Given the description of an element on the screen output the (x, y) to click on. 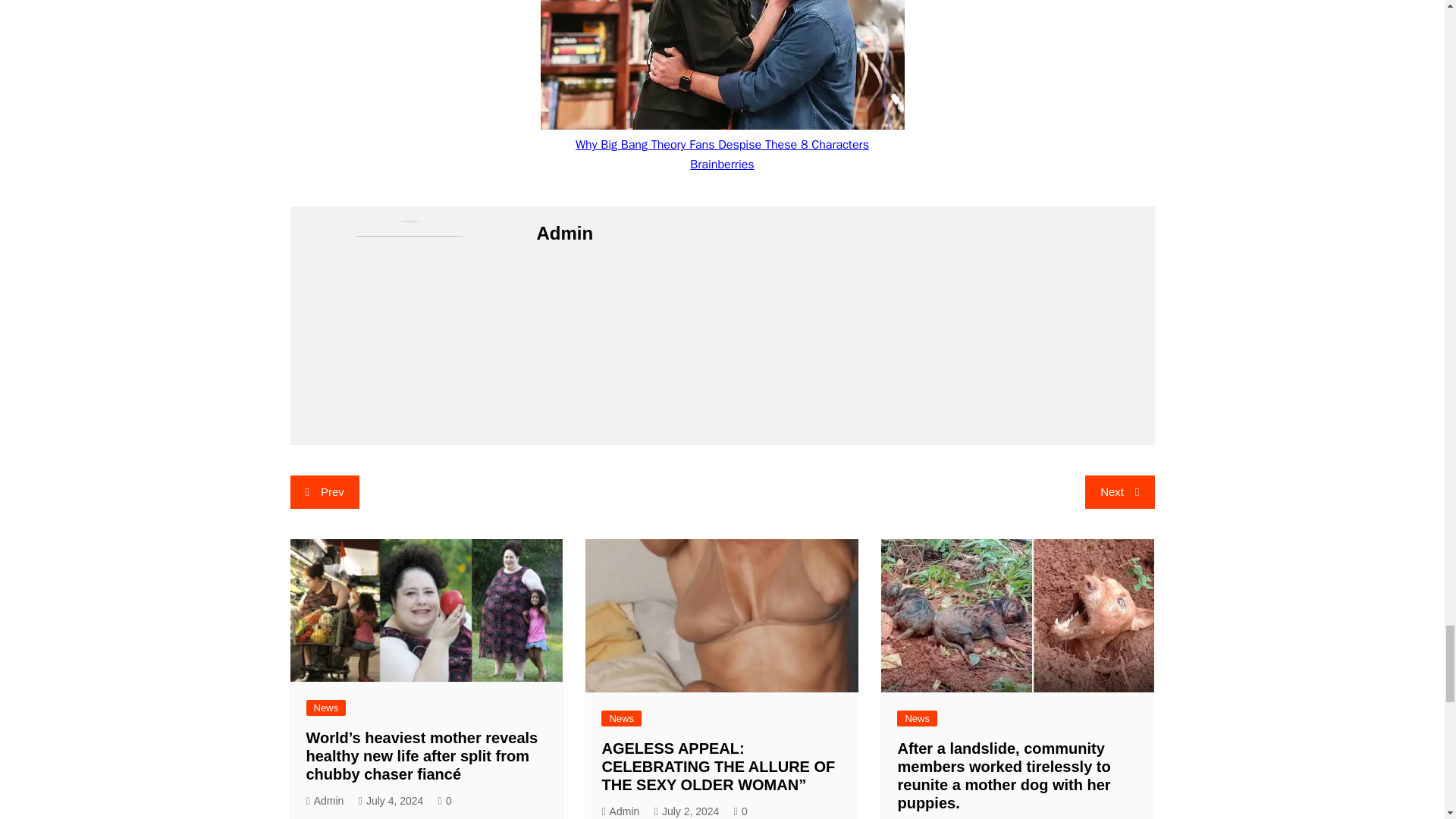
Next (1119, 491)
Admin (620, 811)
0 (740, 811)
News (325, 707)
Admin (324, 800)
0 (444, 800)
July 4, 2024 (390, 800)
News (916, 718)
Prev (323, 491)
News (621, 718)
July 2, 2024 (686, 811)
